Given the description of an element on the screen output the (x, y) to click on. 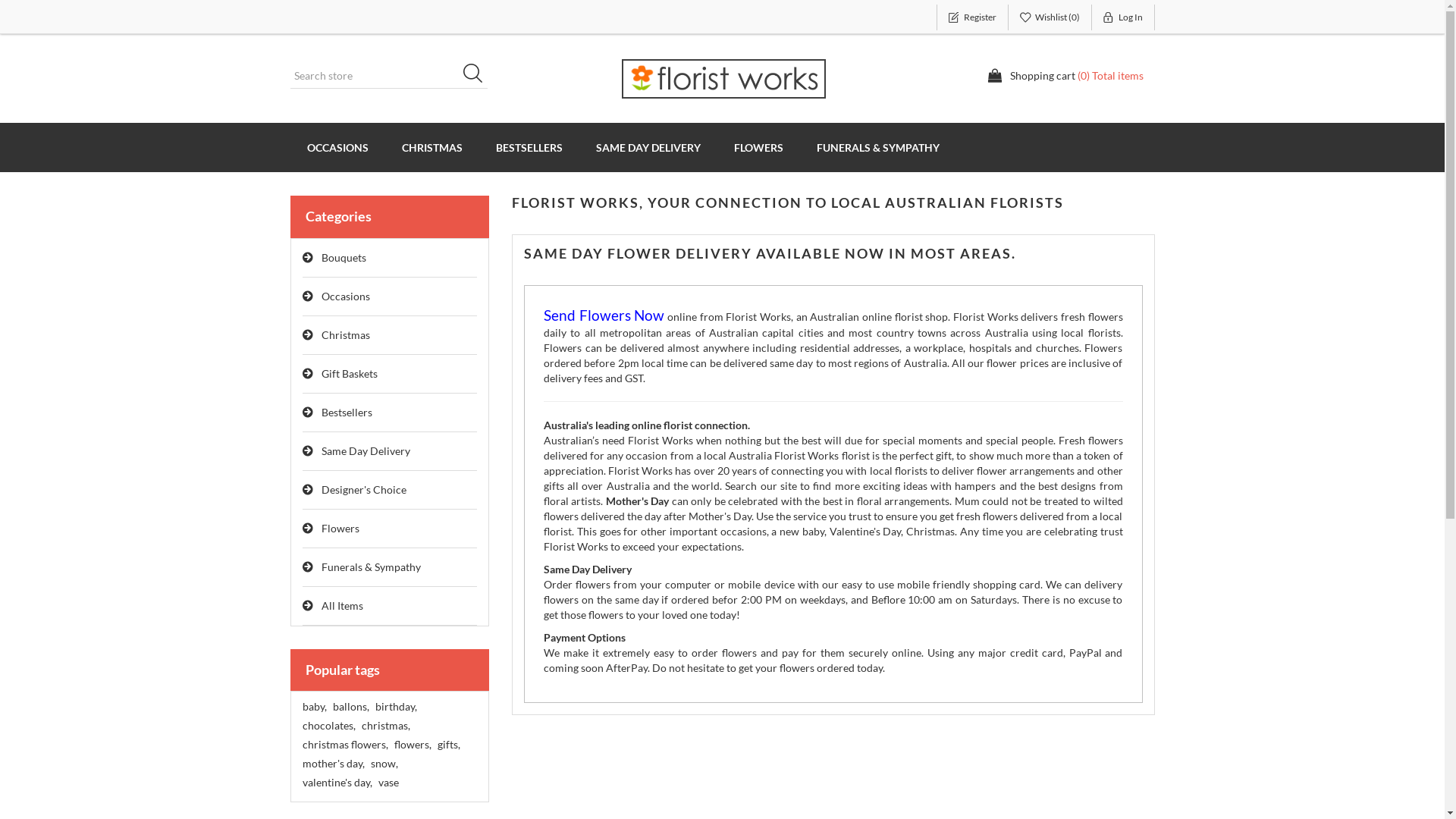
Christmas Element type: text (388, 335)
Log In Element type: text (1123, 17)
SAME DAY DELIVERY Element type: text (648, 147)
BESTSELLERS Element type: text (529, 147)
FUNERALS & SYMPATHY Element type: text (877, 147)
Send Flowers Now Element type: text (603, 316)
All Items Element type: text (388, 605)
Bestsellers Element type: text (388, 412)
Shopping cart (0) Total items Element type: text (1065, 75)
Occasions Element type: text (388, 296)
birthday, Element type: text (395, 706)
baby, Element type: text (313, 706)
OCCASIONS Element type: text (336, 147)
Flowers Element type: text (388, 528)
Register Element type: text (971, 17)
flowers, Element type: text (412, 744)
mother's day, Element type: text (332, 763)
valentine's day, Element type: text (336, 782)
Same Day Delivery Element type: text (388, 451)
chocolates, Element type: text (327, 725)
FLOWERS Element type: text (758, 147)
Designer's Choice Element type: text (388, 489)
Bouquets Element type: text (388, 257)
christmas flowers, Element type: text (344, 744)
CHRISTMAS Element type: text (432, 147)
Gift Baskets Element type: text (388, 373)
vase Element type: text (387, 782)
ballons, Element type: text (350, 706)
gifts, Element type: text (447, 744)
Funerals & Sympathy Element type: text (388, 567)
christmas, Element type: text (384, 725)
snow, Element type: text (383, 763)
Wishlist (0) Element type: text (1050, 17)
